Given the description of an element on the screen output the (x, y) to click on. 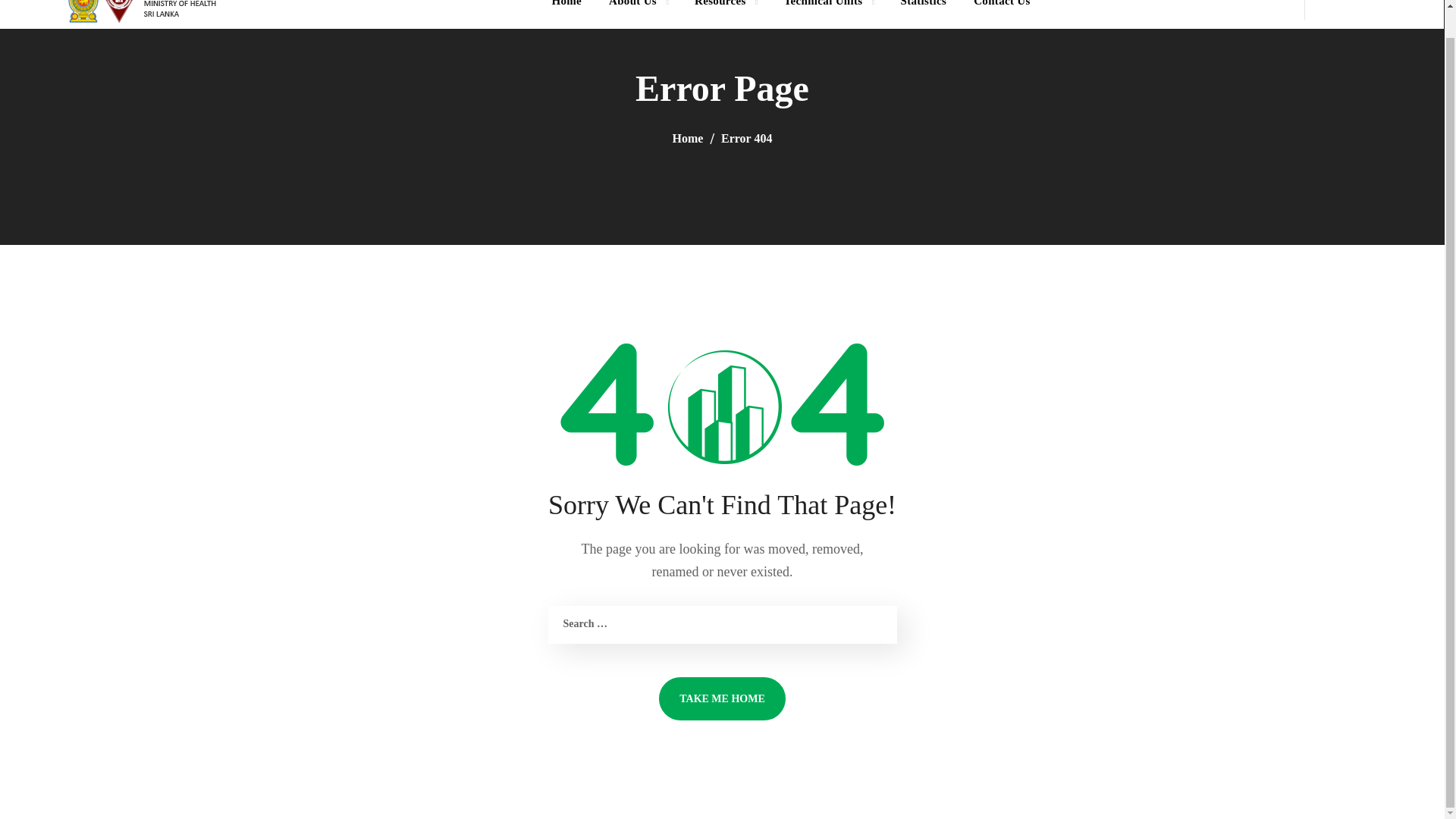
Search (1381, 66)
Technical Units (828, 14)
Statistics (922, 14)
Home (566, 14)
Resources (725, 14)
FHBlogo11 (146, 12)
About Us (638, 14)
Contact Us (1001, 14)
